Given the description of an element on the screen output the (x, y) to click on. 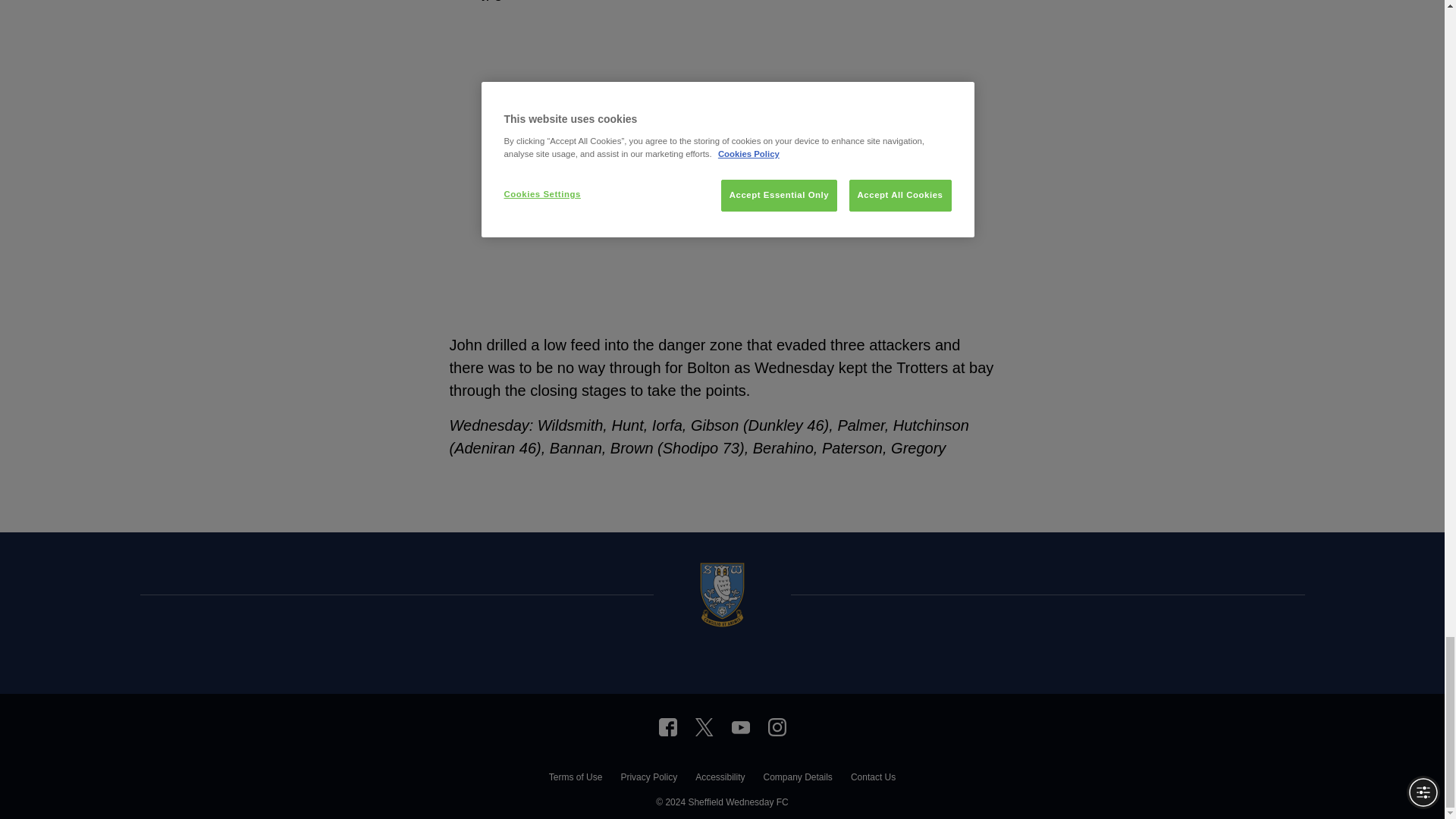
Privacy Policy (648, 779)
Accessibility (719, 779)
Terms of Use (575, 779)
Company Details (796, 779)
Accessibility (719, 779)
Privacy Policy (648, 779)
Contact Us (872, 779)
sheffieldwednesday (667, 727)
Company Details (796, 779)
Terms of Use (575, 779)
